Given the description of an element on the screen output the (x, y) to click on. 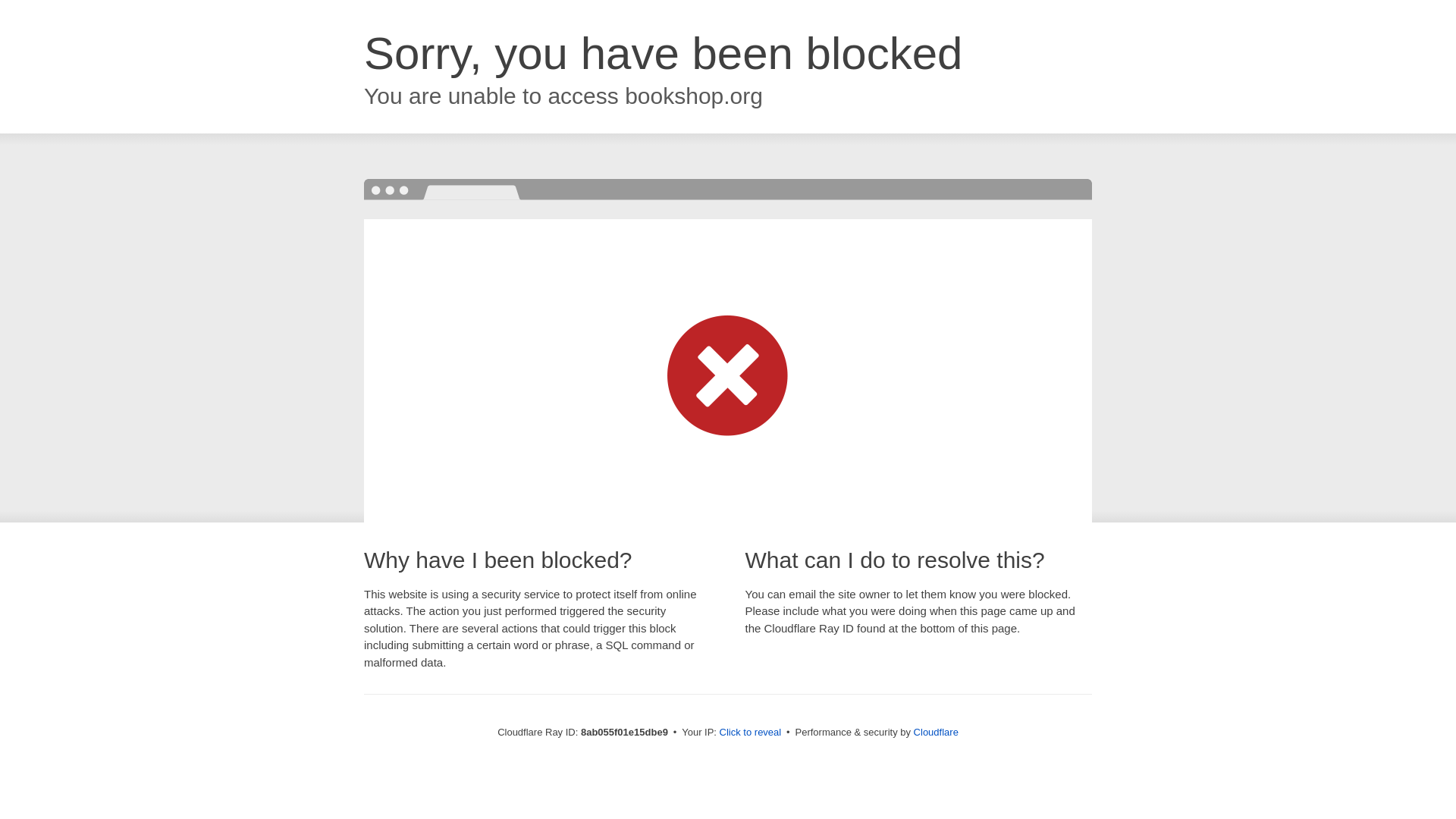
Click to reveal (750, 732)
Cloudflare (936, 731)
